Given the description of an element on the screen output the (x, y) to click on. 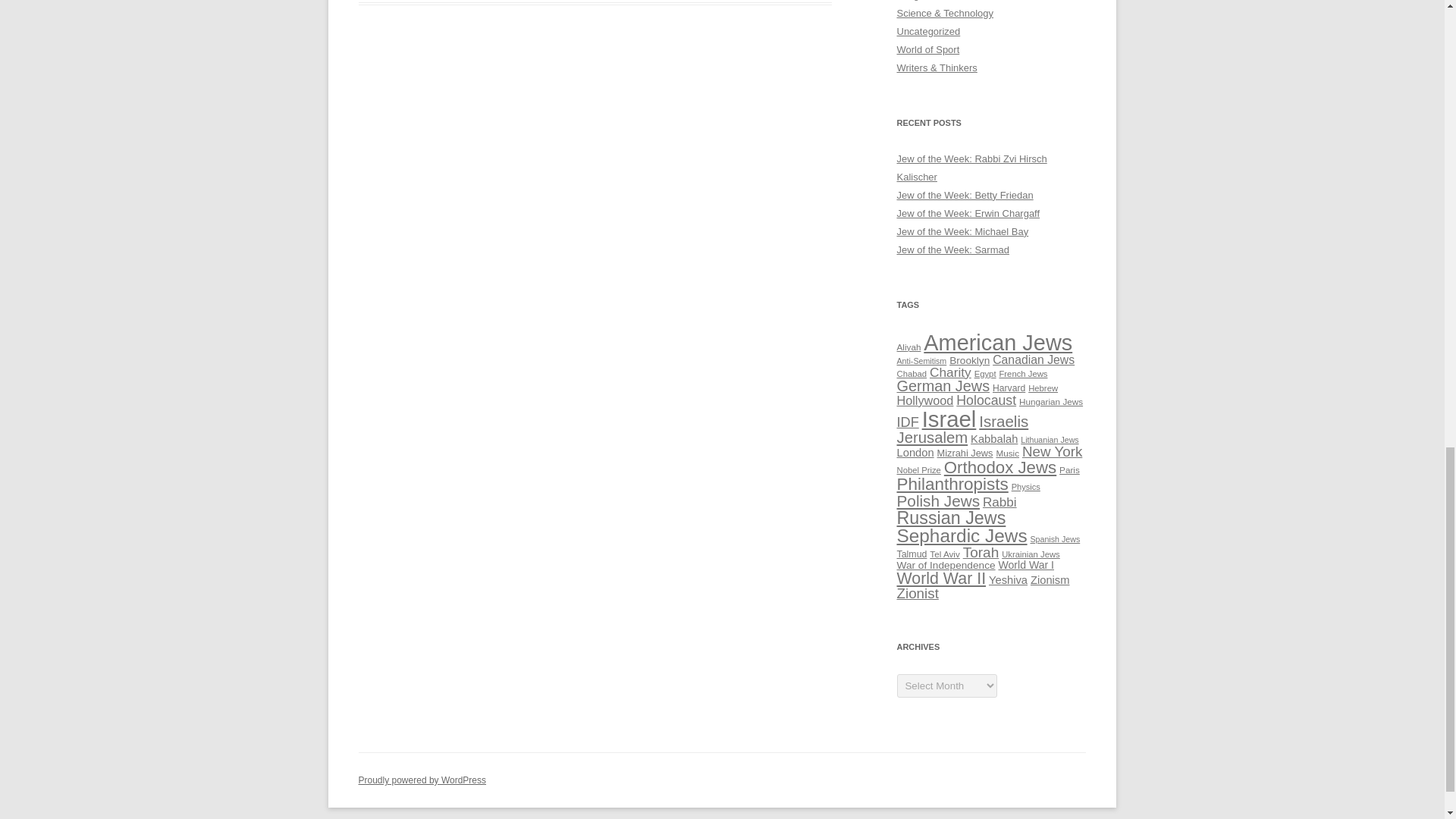
Semantic Personal Publishing Platform (422, 779)
